Given the description of an element on the screen output the (x, y) to click on. 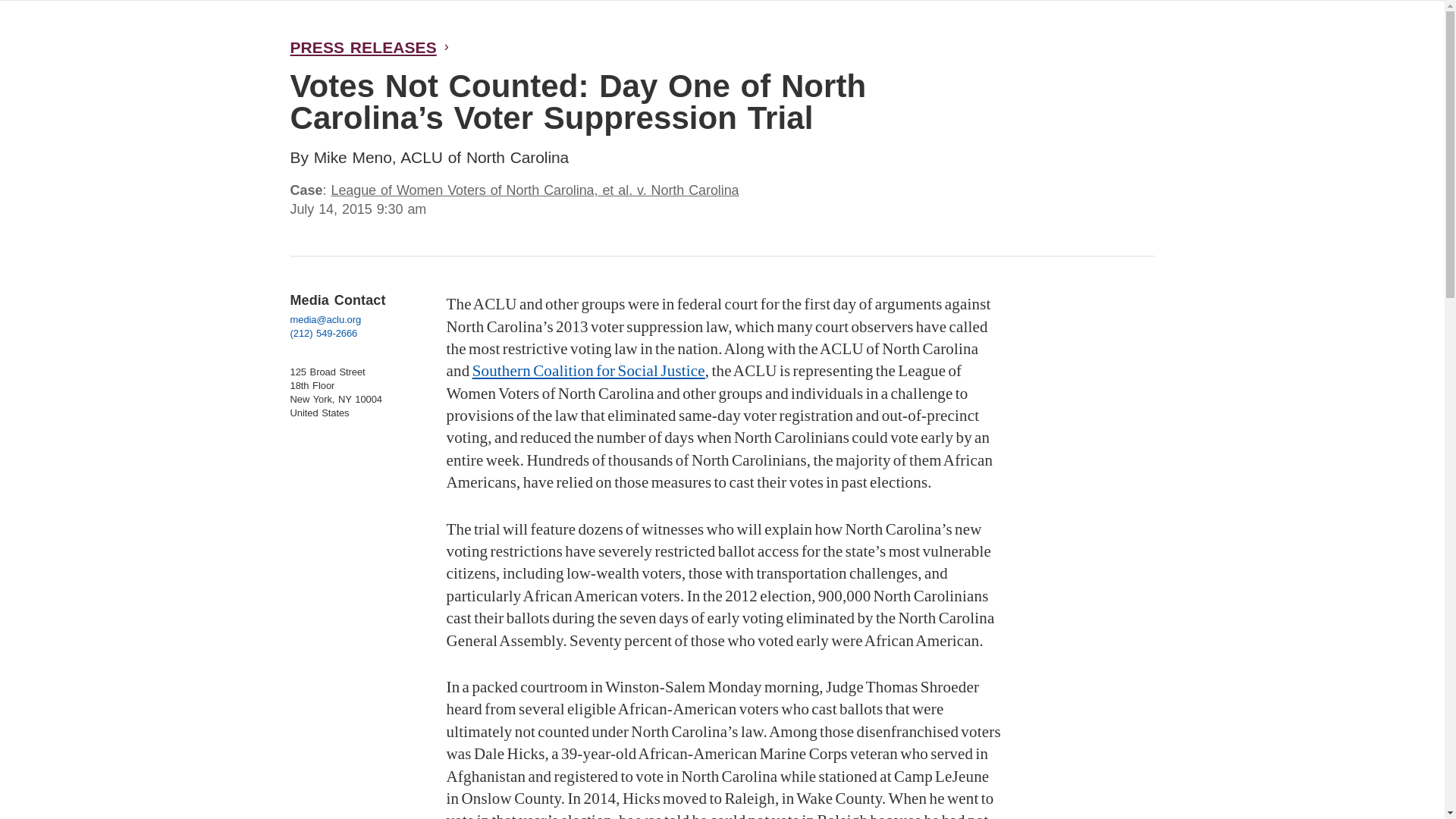
PRESS RELEASES (364, 47)
Southern Coalition for Social Justice (587, 370)
